Given the description of an element on the screen output the (x, y) to click on. 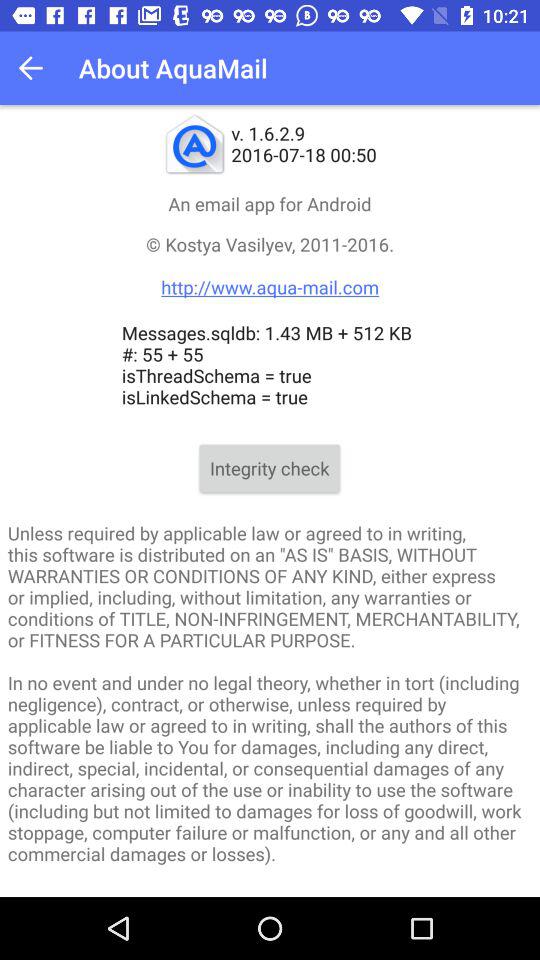
choose the item above the messages sqldb 1 app (269, 265)
